Given the description of an element on the screen output the (x, y) to click on. 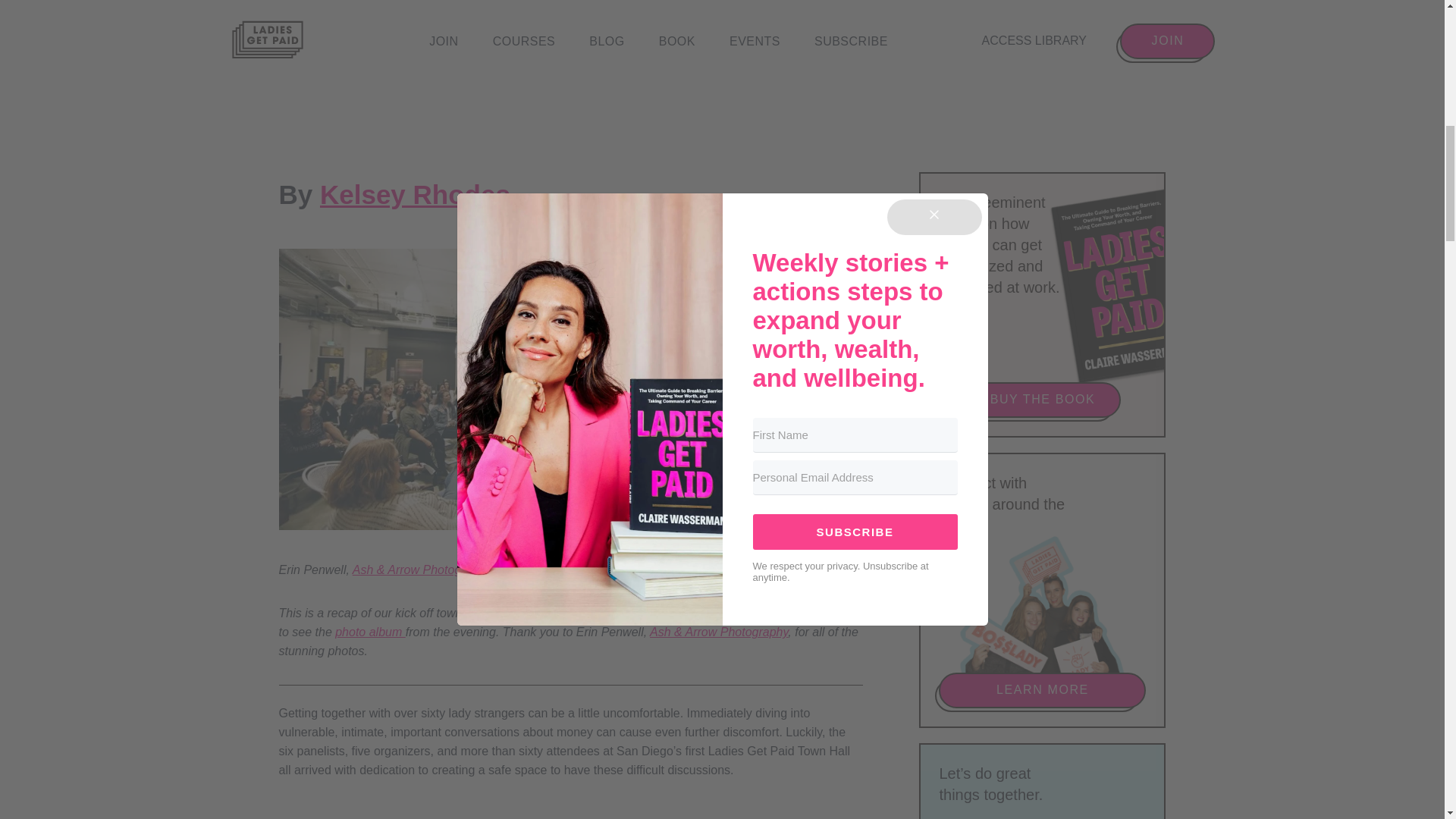
photo album (370, 631)
Kelsey Rhodes (415, 194)
